Given the description of an element on the screen output the (x, y) to click on. 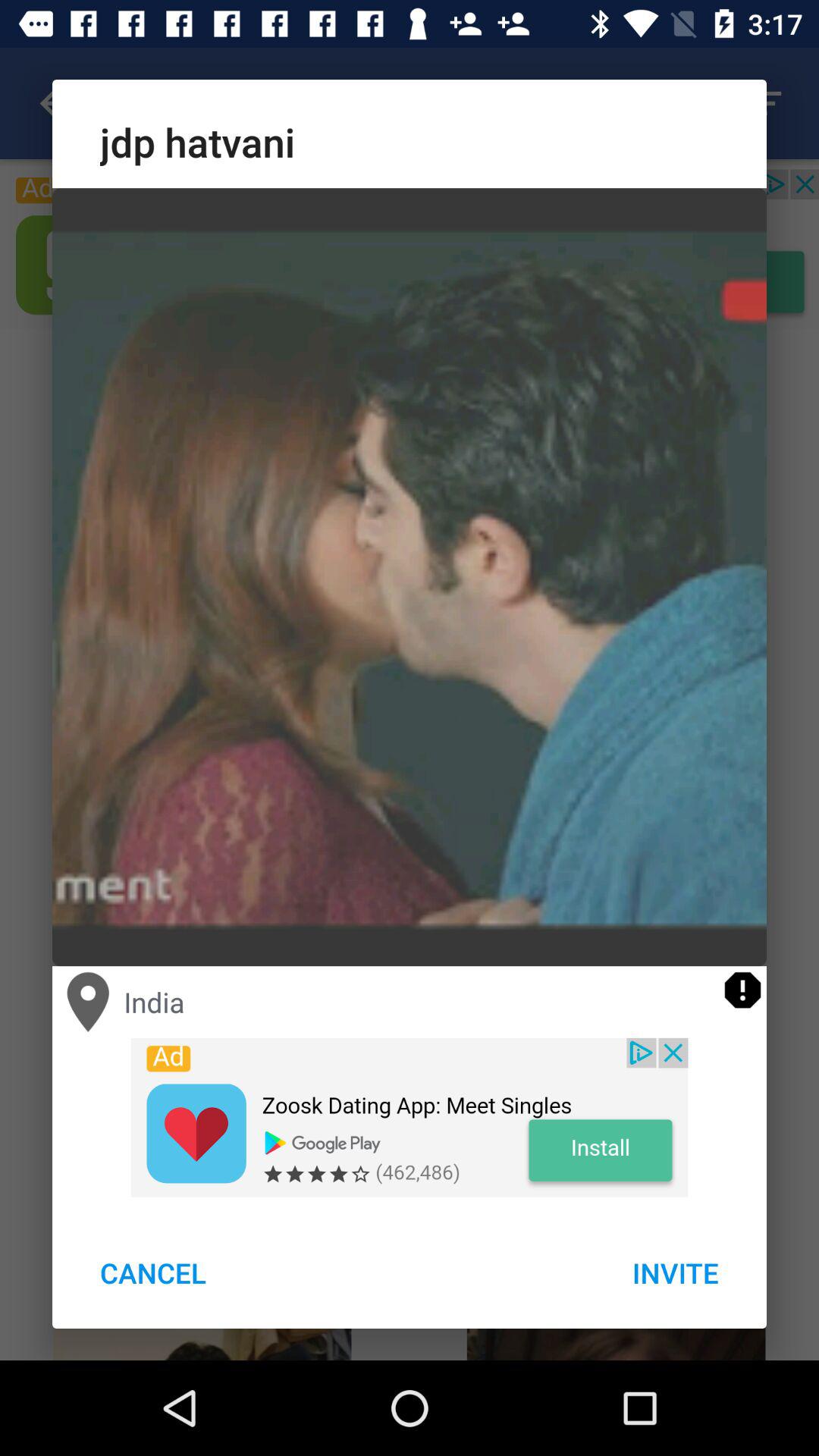
report (742, 990)
